Given the description of an element on the screen output the (x, y) to click on. 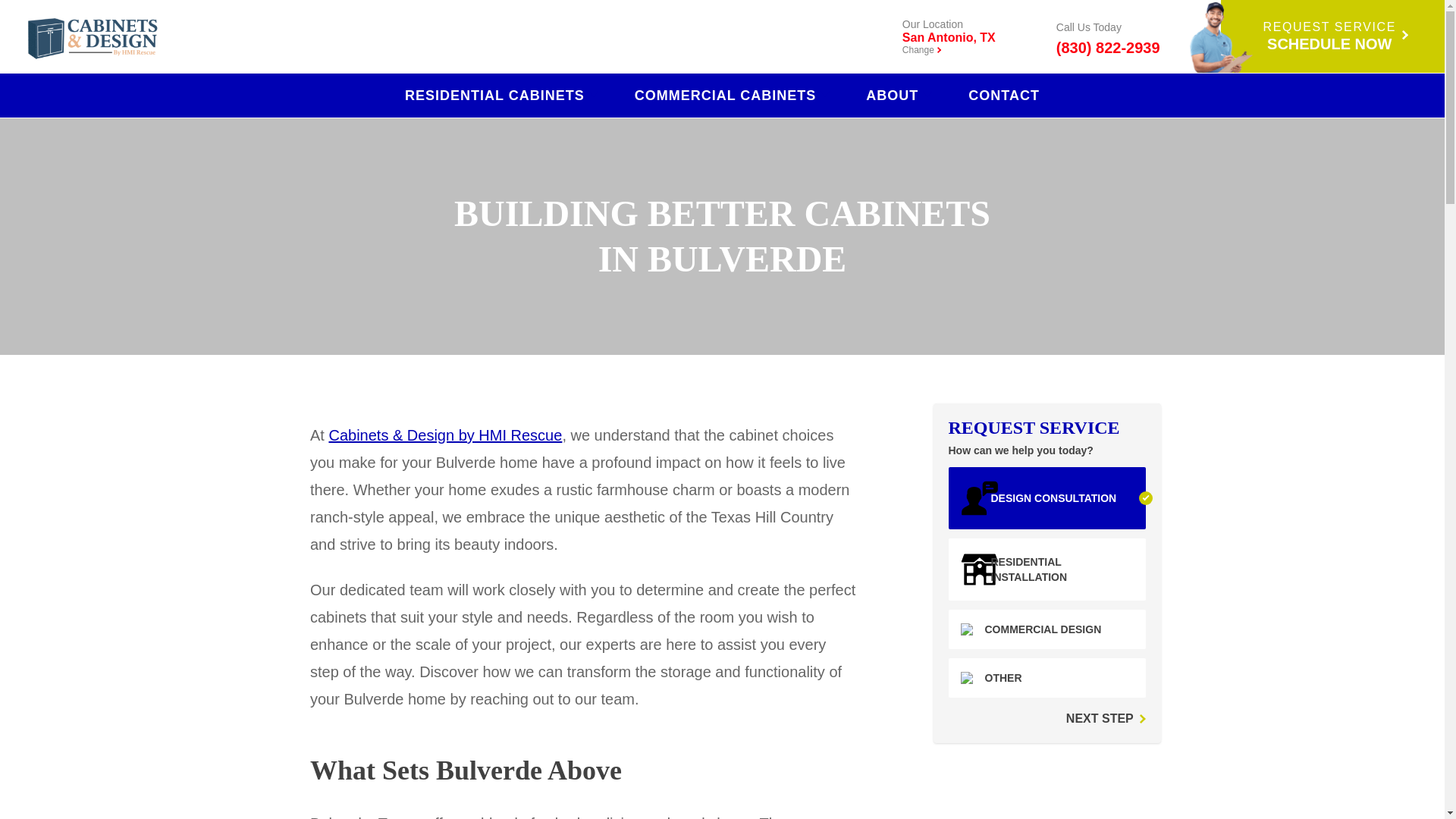
COMMERCIAL CABINETS (731, 95)
CONTACT (1003, 95)
ABOUT (898, 95)
RESIDENTIAL CABINETS (501, 95)
